Given the description of an element on the screen output the (x, y) to click on. 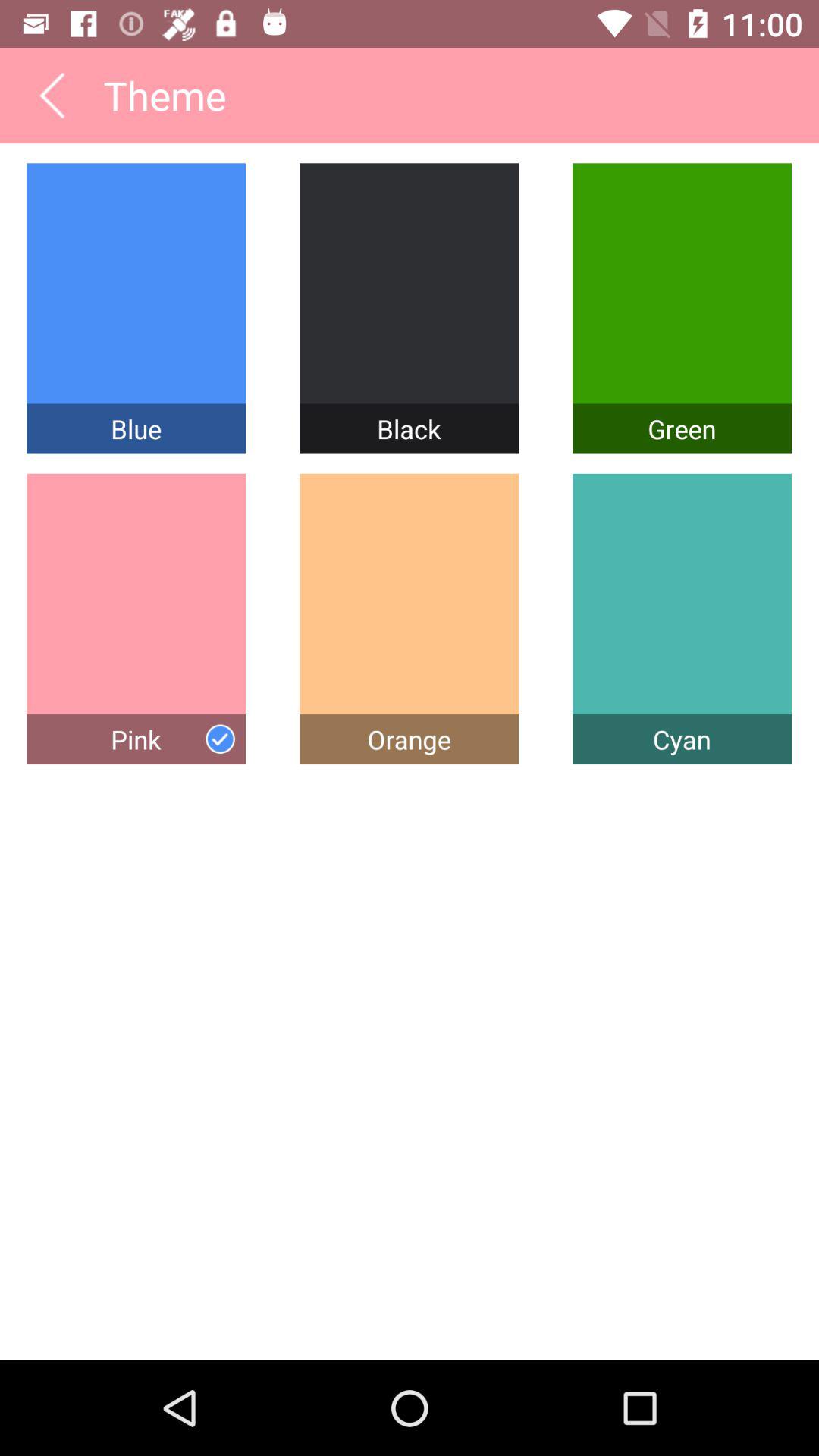
go to previous (51, 95)
